Given the description of an element on the screen output the (x, y) to click on. 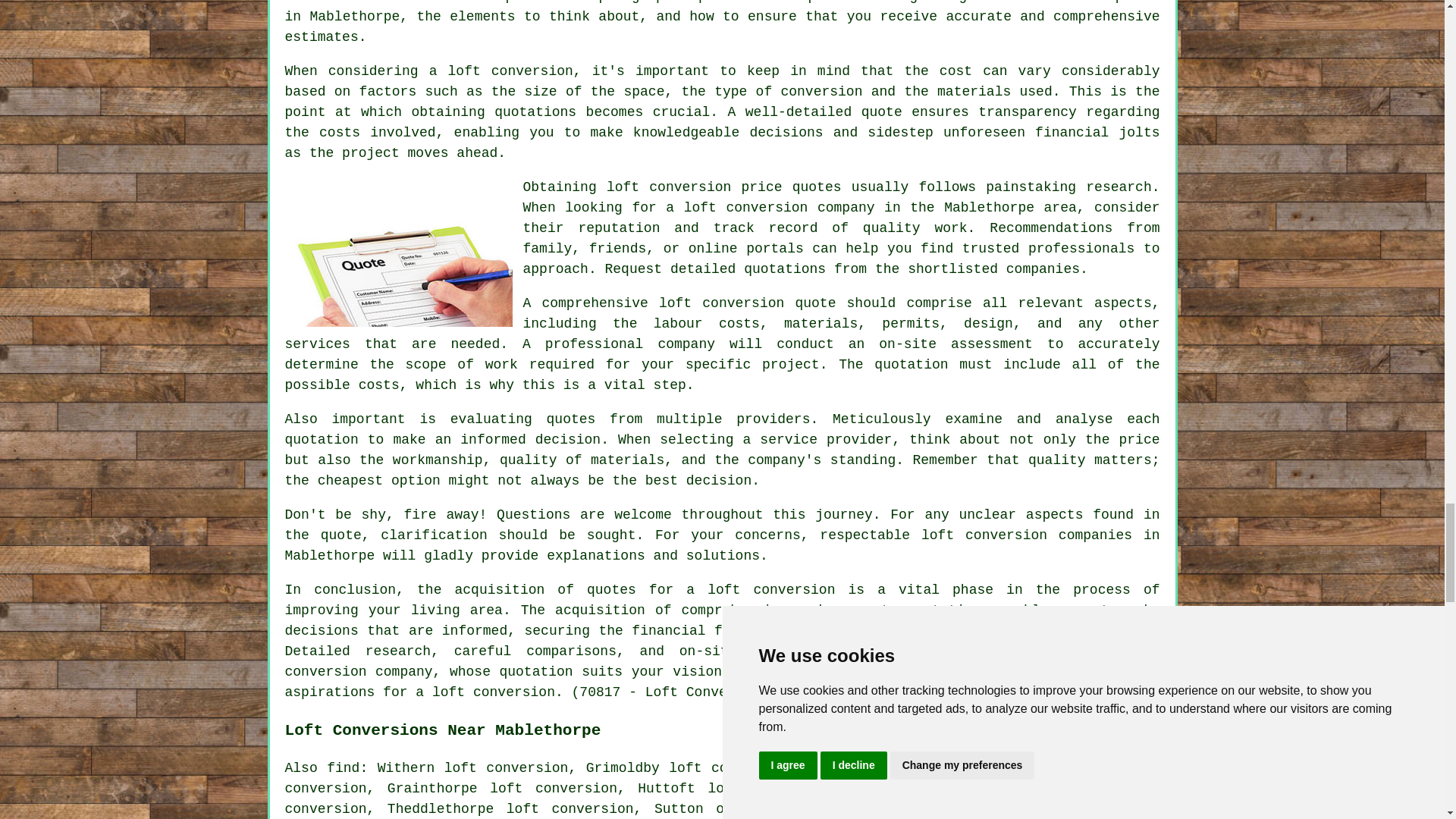
Loft Conversion Quotes Mablethorpe (398, 251)
loft conversion companies (1026, 534)
